Given the description of an element on the screen output the (x, y) to click on. 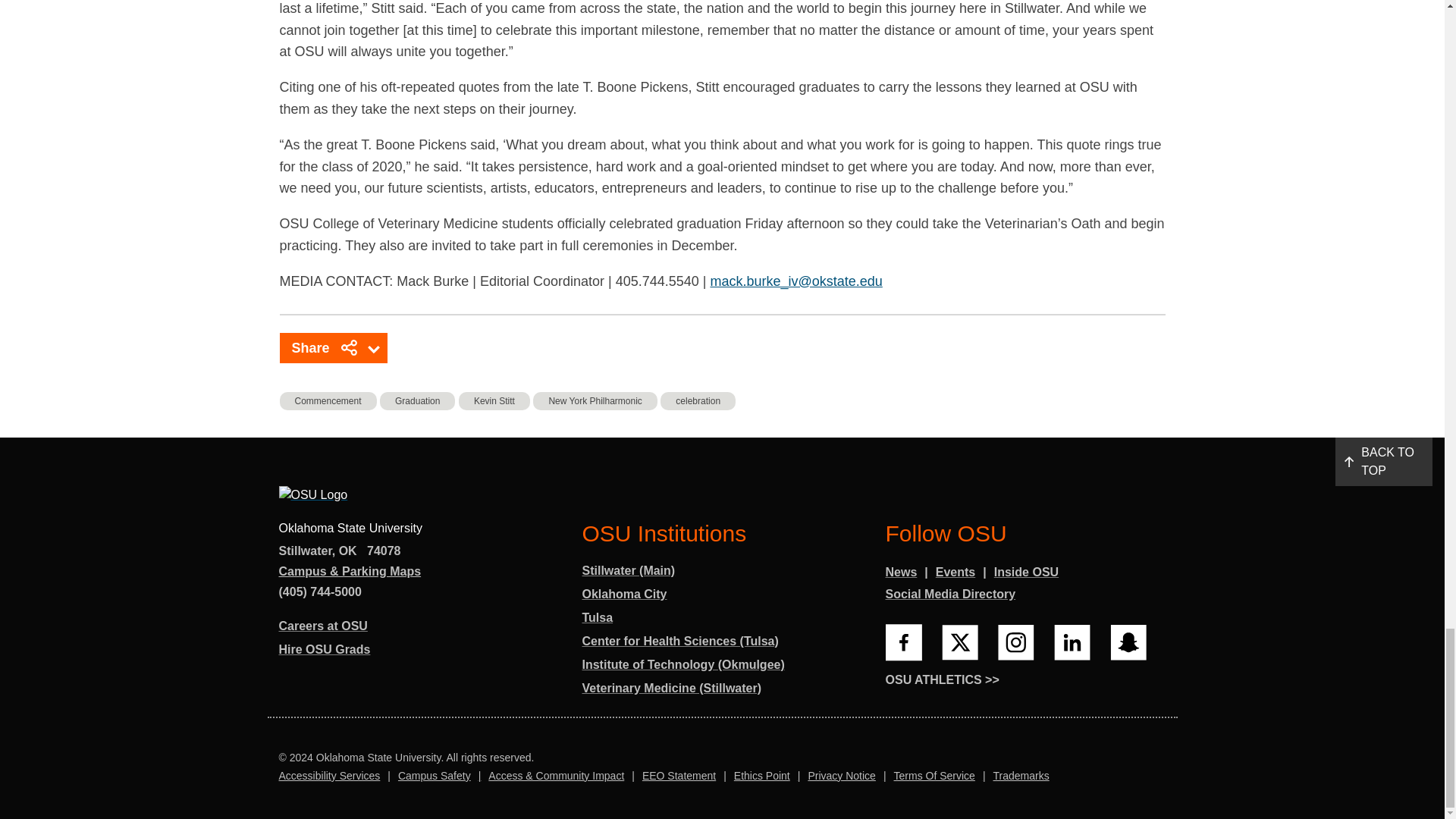
Stillwater, OK 74078 (340, 552)
Oklahoma (347, 550)
